Given the description of an element on the screen output the (x, y) to click on. 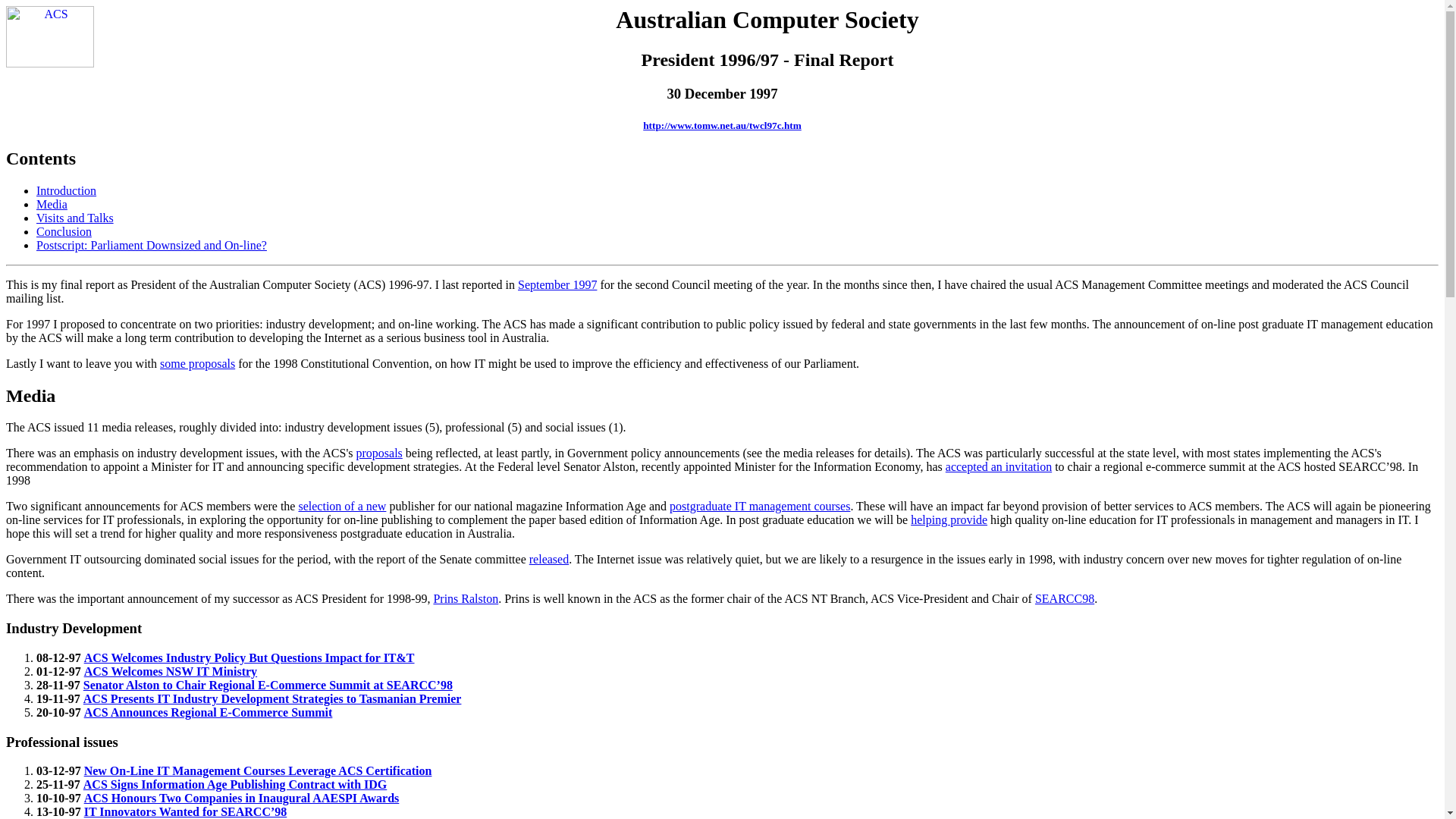
Contents Element type: text (722, 158)
Prins Ralston Element type: text (465, 598)
Media Element type: text (51, 203)
September 1997 Element type: text (556, 284)
helping provide Element type: text (948, 519)
Introduction Element type: text (66, 190)
some proposals Element type: text (197, 363)
Postscript: Parliament Downsized and On-line? Element type: text (151, 244)
postgraduate IT management courses Element type: text (759, 505)
New On-Line IT Management Courses Leverage ACS Certification Element type: text (258, 770)
SEARCC98 Element type: text (1064, 598)
released Element type: text (548, 558)
ACS Announces Regional E-Commerce Summit Element type: text (208, 712)
proposals Element type: text (379, 452)
Conclusion Element type: text (63, 231)
ACS Honours Two Companies in Inaugural AAESPI Awards Element type: text (241, 797)
ACS Welcomes Industry Policy But Questions Impact for IT&T Element type: text (249, 657)
Media Element type: text (722, 395)
selection of a new Element type: text (341, 505)
Visits and Talks Element type: text (74, 217)
ACS Signs Information Age Publishing Contract with IDG Element type: text (235, 784)
accepted an invitation Element type: text (998, 466)
http://www.tomw.net.au/twcl97c.htm Element type: text (722, 125)
ACS Welcomes NSW IT Ministry Element type: text (170, 671)
